Given the description of an element on the screen output the (x, y) to click on. 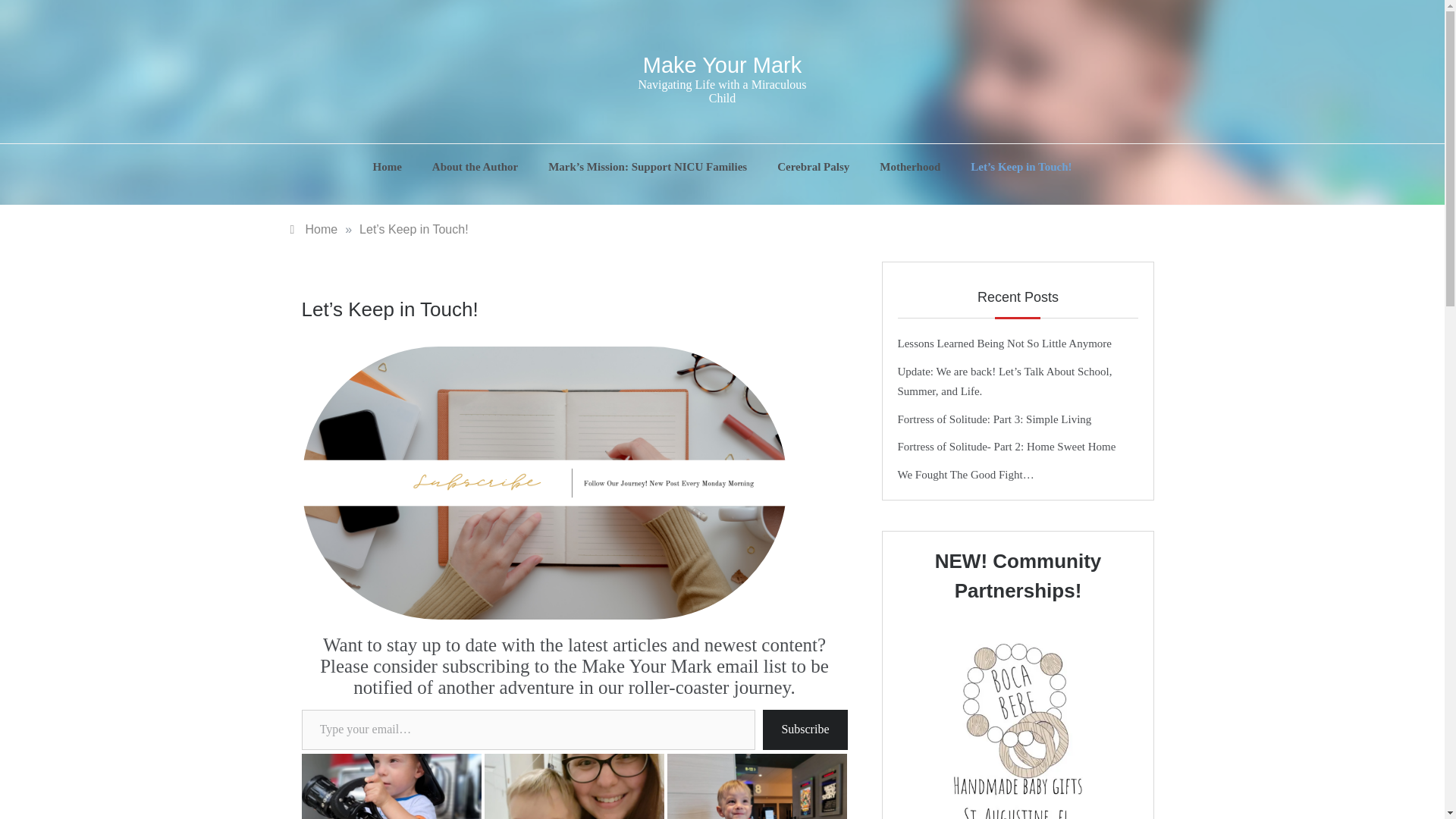
Make Your Mark (722, 64)
Lessons Learned Being Not So Little Anymore (1005, 343)
About the Author (474, 166)
Subscribe (804, 730)
Motherhood (909, 166)
Fortress of Solitude: Part 3: Simple Living (995, 419)
Cerebral Palsy (812, 166)
Fortress of Solitude- Part 2: Home Sweet Home (1007, 446)
Home (394, 166)
Home (313, 228)
